Given the description of an element on the screen output the (x, y) to click on. 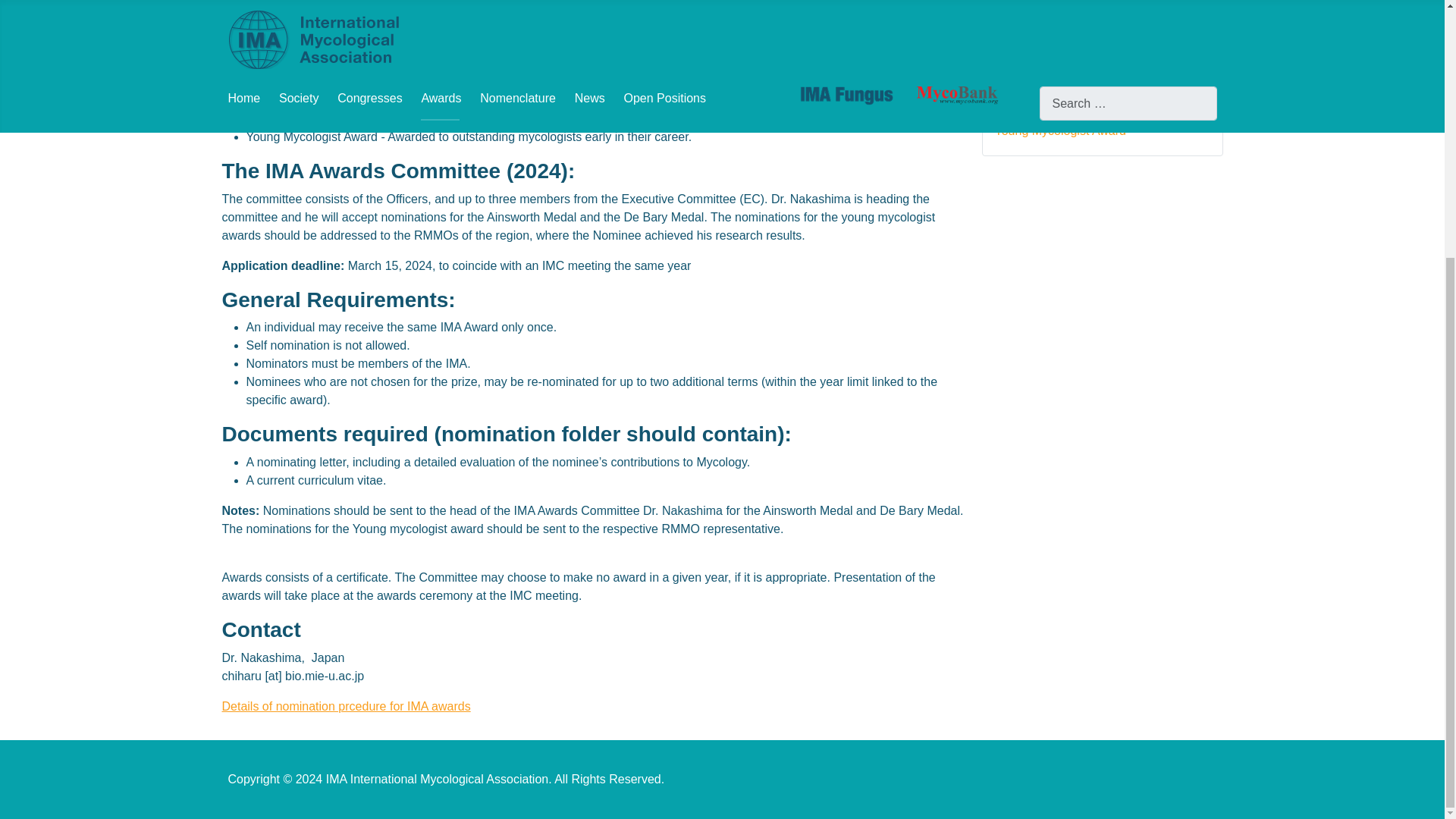
Young Mycologist Award (1059, 130)
Details of nomination prcedure for IMA awards (345, 706)
Ainsworth Medal (1039, 106)
De Bary Medal (1034, 82)
